Given the description of an element on the screen output the (x, y) to click on. 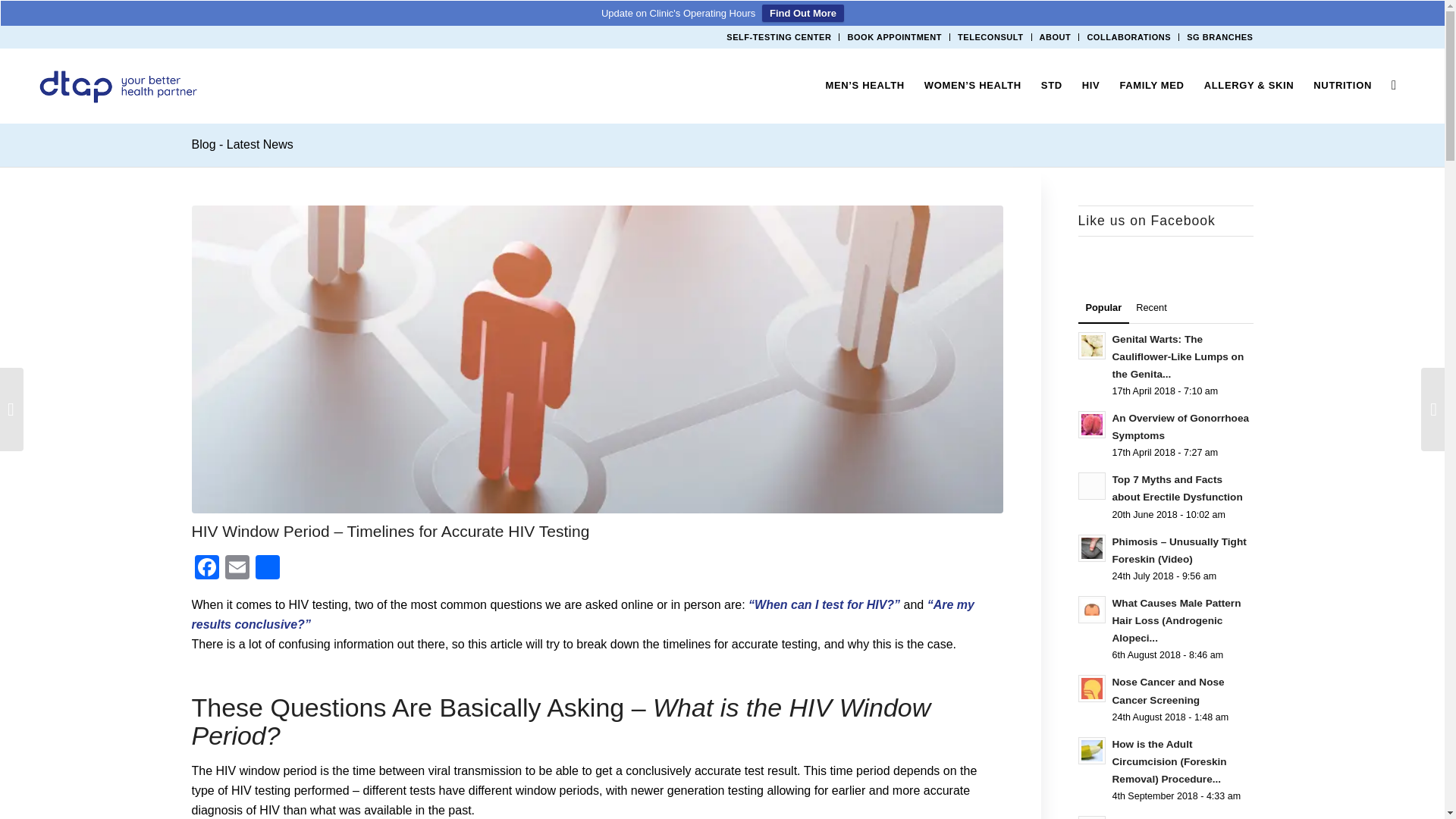
Email (236, 569)
Facebook (205, 569)
COLLABORATIONS (1128, 36)
Find Out More (802, 13)
Permanent Link: Blog - Latest News (241, 144)
SELF-TESTING CENTER (778, 36)
ABOUT (1055, 36)
SG BRANCHES (1219, 36)
BOOK APPOINTMENT (894, 36)
TELECONSULT (990, 36)
